Given the description of an element on the screen output the (x, y) to click on. 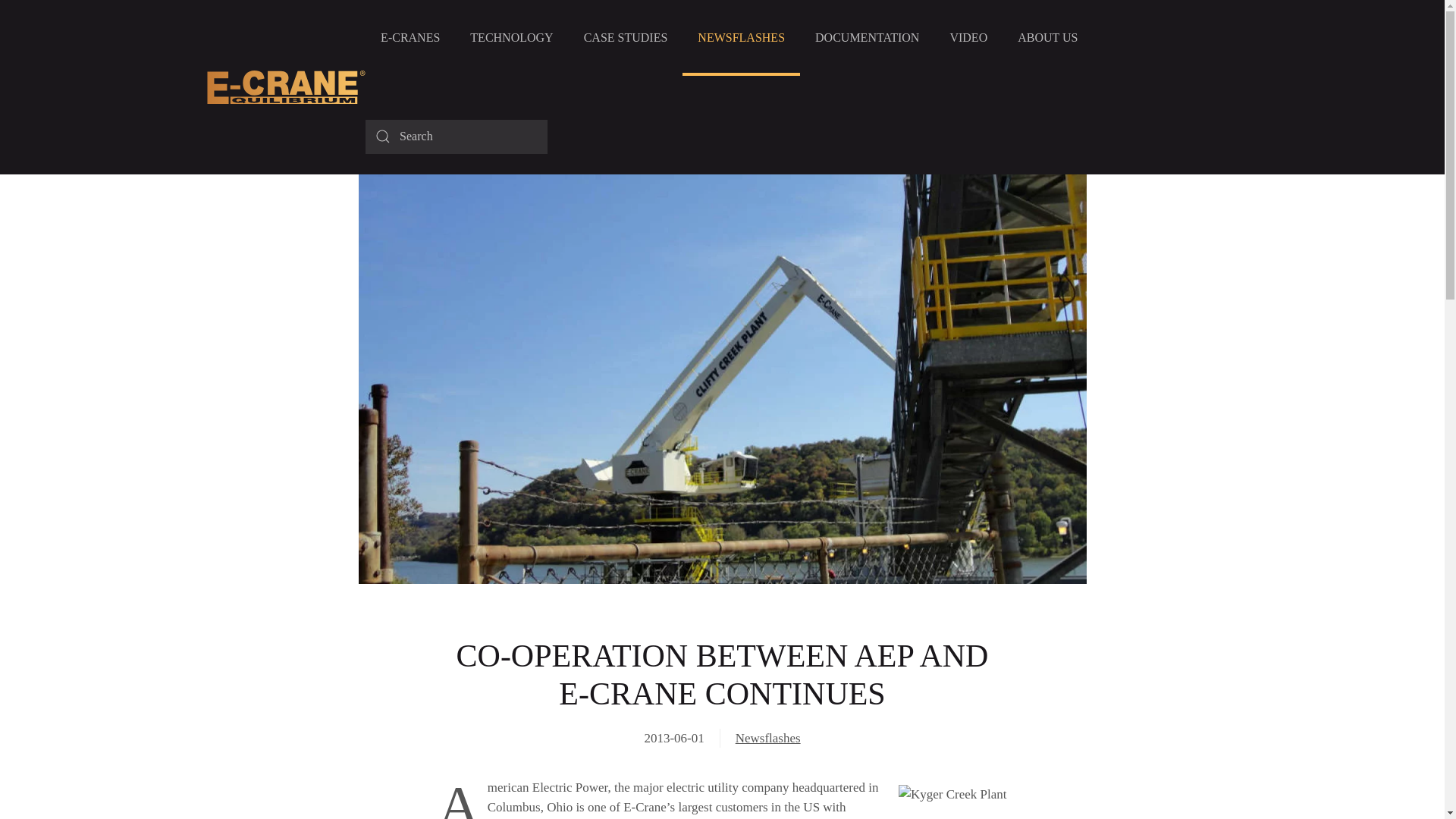
E-CRANES (409, 38)
